Given the description of an element on the screen output the (x, y) to click on. 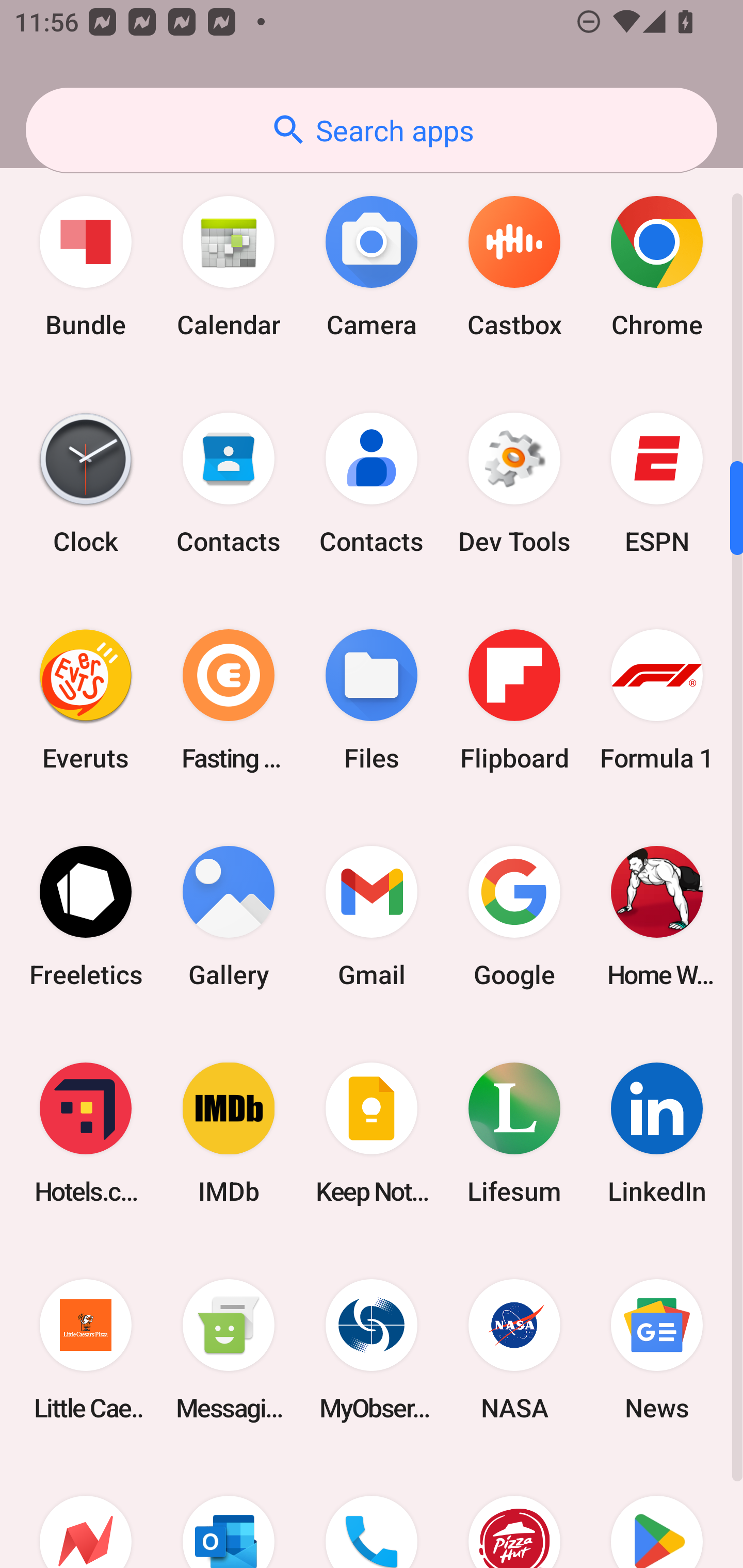
  Search apps (371, 130)
Bundle (85, 266)
Calendar (228, 266)
Camera (371, 266)
Castbox (514, 266)
Chrome (656, 266)
Clock (85, 482)
Contacts (228, 482)
Contacts (371, 482)
Dev Tools (514, 482)
ESPN (656, 482)
Everuts (85, 699)
Fasting Coach (228, 699)
Files (371, 699)
Flipboard (514, 699)
Formula 1 (656, 699)
Freeletics (85, 916)
Gallery (228, 916)
Gmail (371, 916)
Google (514, 916)
Home Workout (656, 916)
Hotels.com (85, 1133)
IMDb (228, 1133)
Keep Notes (371, 1133)
Lifesum (514, 1133)
LinkedIn (656, 1133)
Little Caesars Pizza (85, 1349)
Messaging (228, 1349)
MyObservatory (371, 1349)
NASA (514, 1349)
News (656, 1349)
NewsBreak (85, 1513)
Outlook (228, 1513)
Phone (371, 1513)
Pizza Hut HK & Macau (514, 1513)
Play Store (656, 1513)
